Given the description of an element on the screen output the (x, y) to click on. 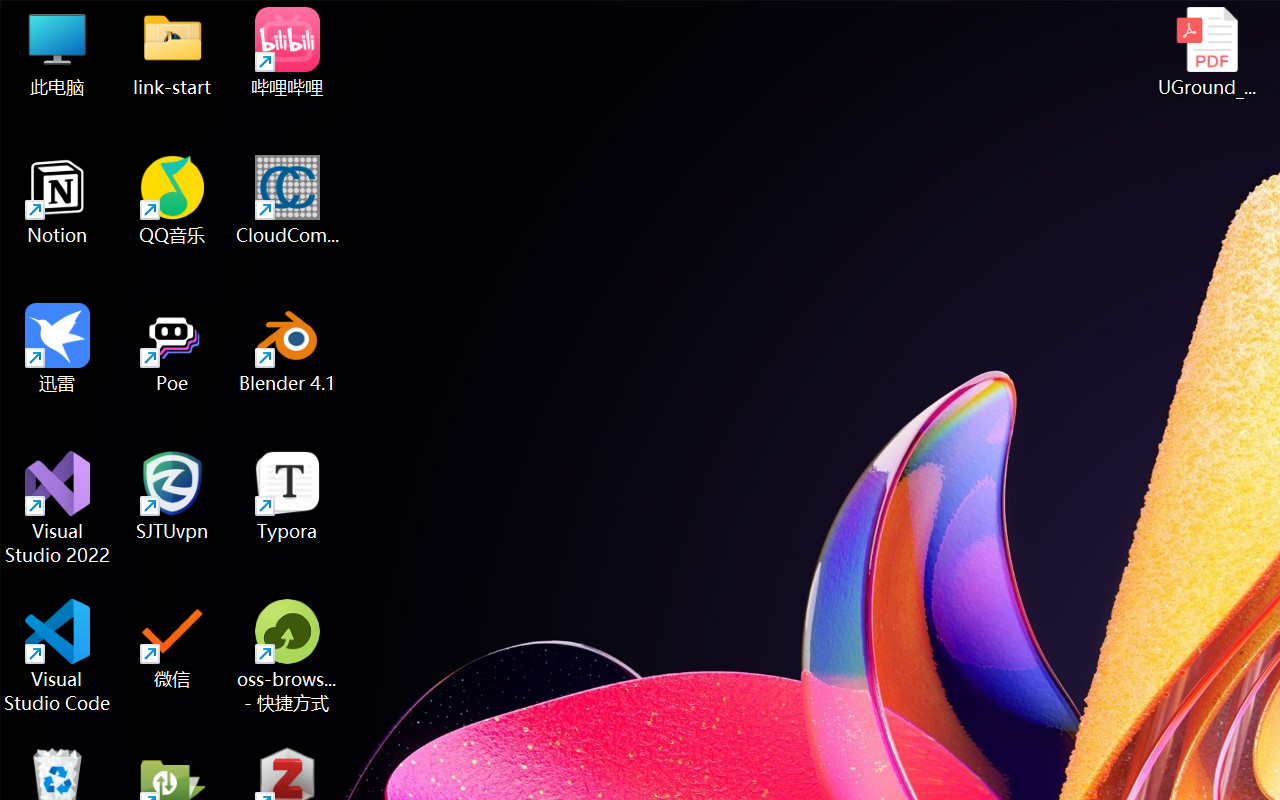
Blender 4.1 (287, 348)
Visual Studio Code (57, 656)
CloudCompare (287, 200)
UGround_paper.pdf (1206, 52)
Visual Studio 2022 (57, 508)
Notion (57, 200)
Poe (172, 348)
Typora (287, 496)
SJTUvpn (172, 496)
